Given the description of an element on the screen output the (x, y) to click on. 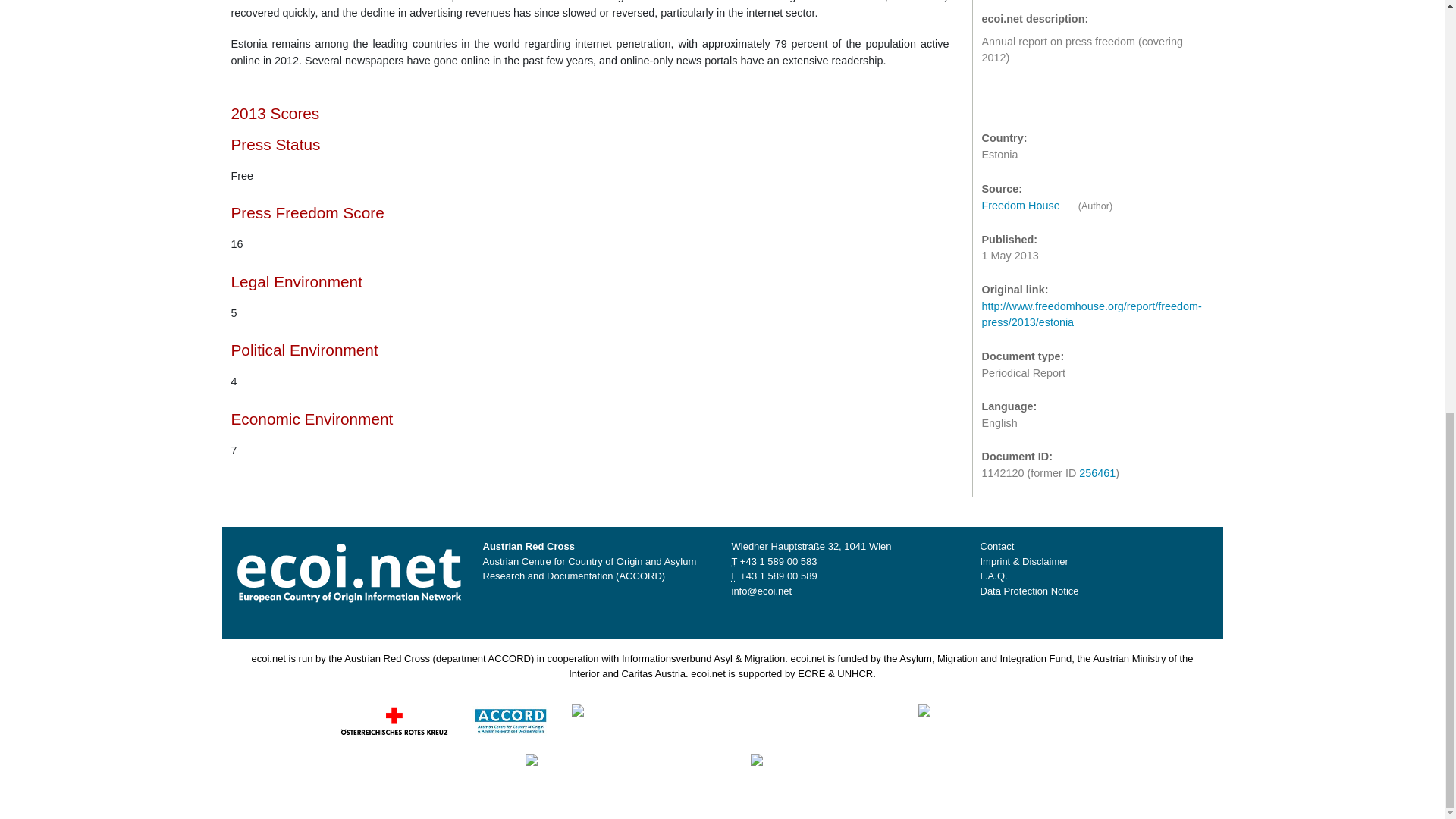
UNHCR - The UN Refugee Agency (847, 769)
Data Protection Notice (1028, 591)
Contact (996, 546)
Telefon (733, 561)
F.A.Q. (993, 575)
Telephone (777, 561)
Fax (733, 575)
Telefax (777, 575)
Austrian Red Cross (393, 720)
